Given the description of an element on the screen output the (x, y) to click on. 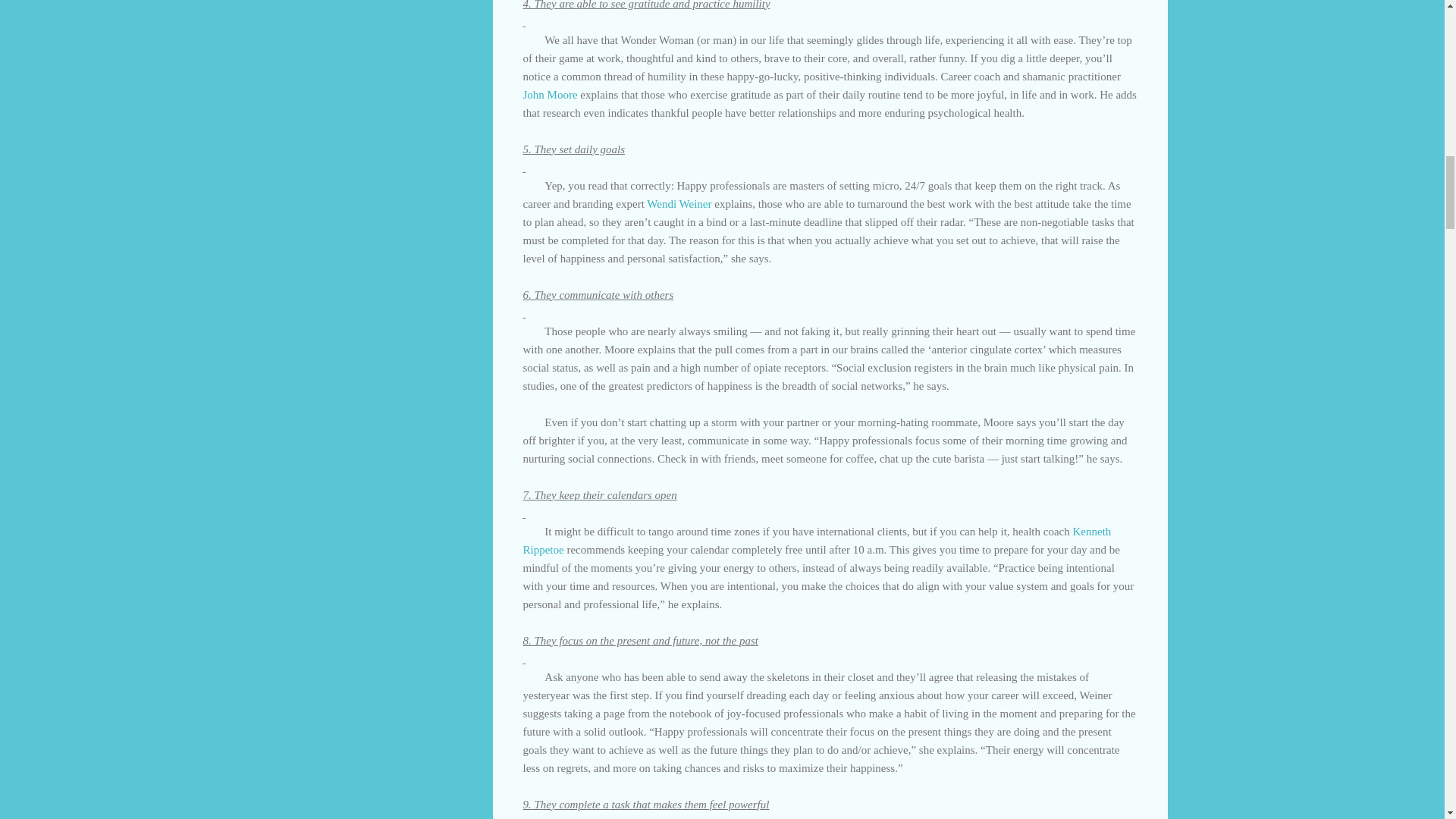
John Moore (550, 93)
Wendi Weiner (678, 203)
Kenneth Rippetoe (817, 539)
